Given the description of an element on the screen output the (x, y) to click on. 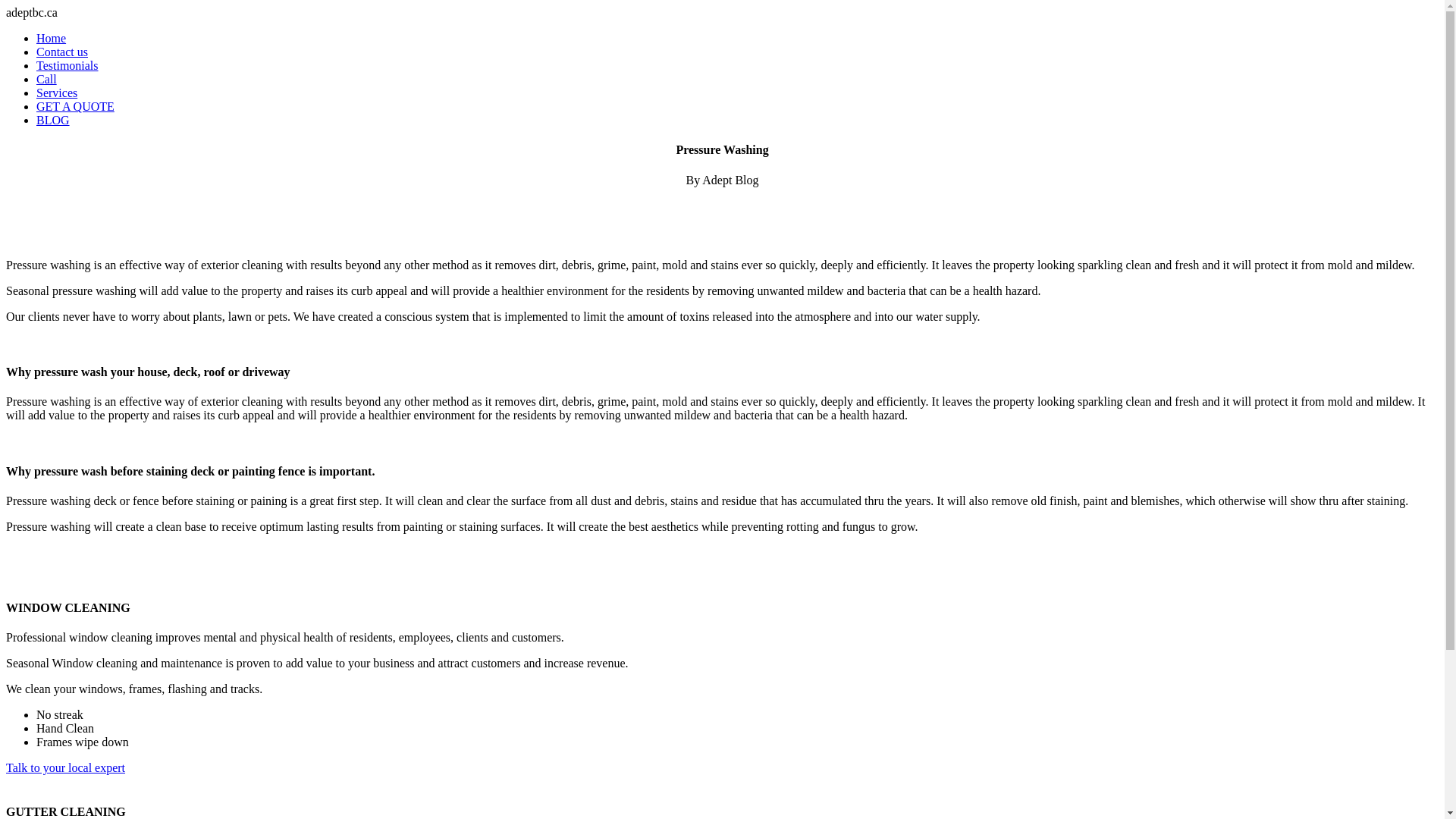
Home Element type: text (50, 37)
Contact us Element type: text (61, 51)
Call Element type: text (46, 78)
GET A QUOTE Element type: text (75, 106)
Testimonials Element type: text (67, 65)
Services Element type: text (56, 92)
Talk to your local expert Element type: text (65, 767)
BLOG Element type: text (52, 119)
